Given the description of an element on the screen output the (x, y) to click on. 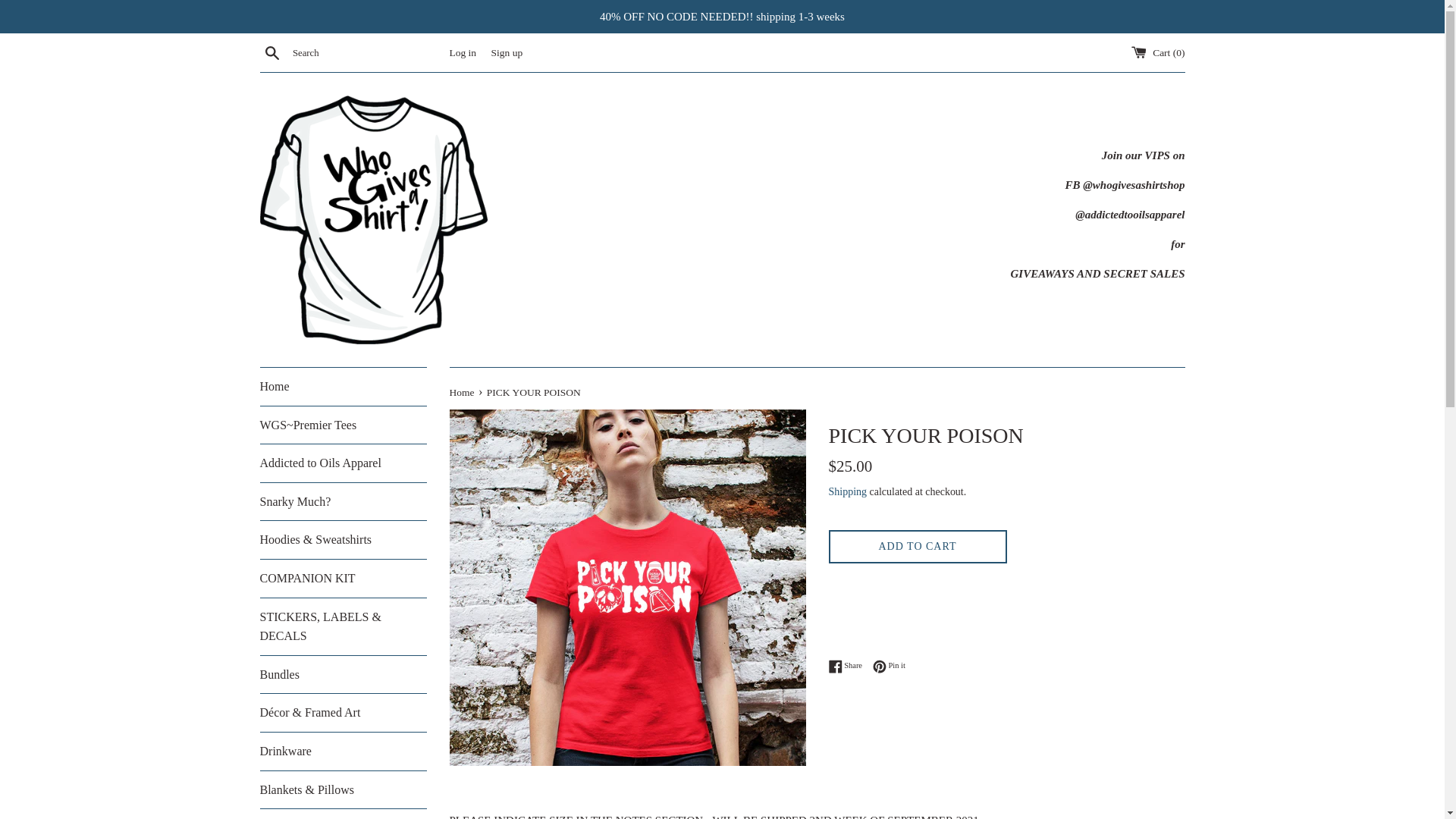
Search (271, 52)
Sign up (507, 52)
Bundles (342, 674)
Back to the frontpage (462, 392)
Pin on Pinterest (888, 666)
Drinkware (342, 751)
Addicted to Oils Apparel (342, 463)
Log in (462, 52)
Shipping (847, 491)
ADD TO CART (917, 546)
